Given the description of an element on the screen output the (x, y) to click on. 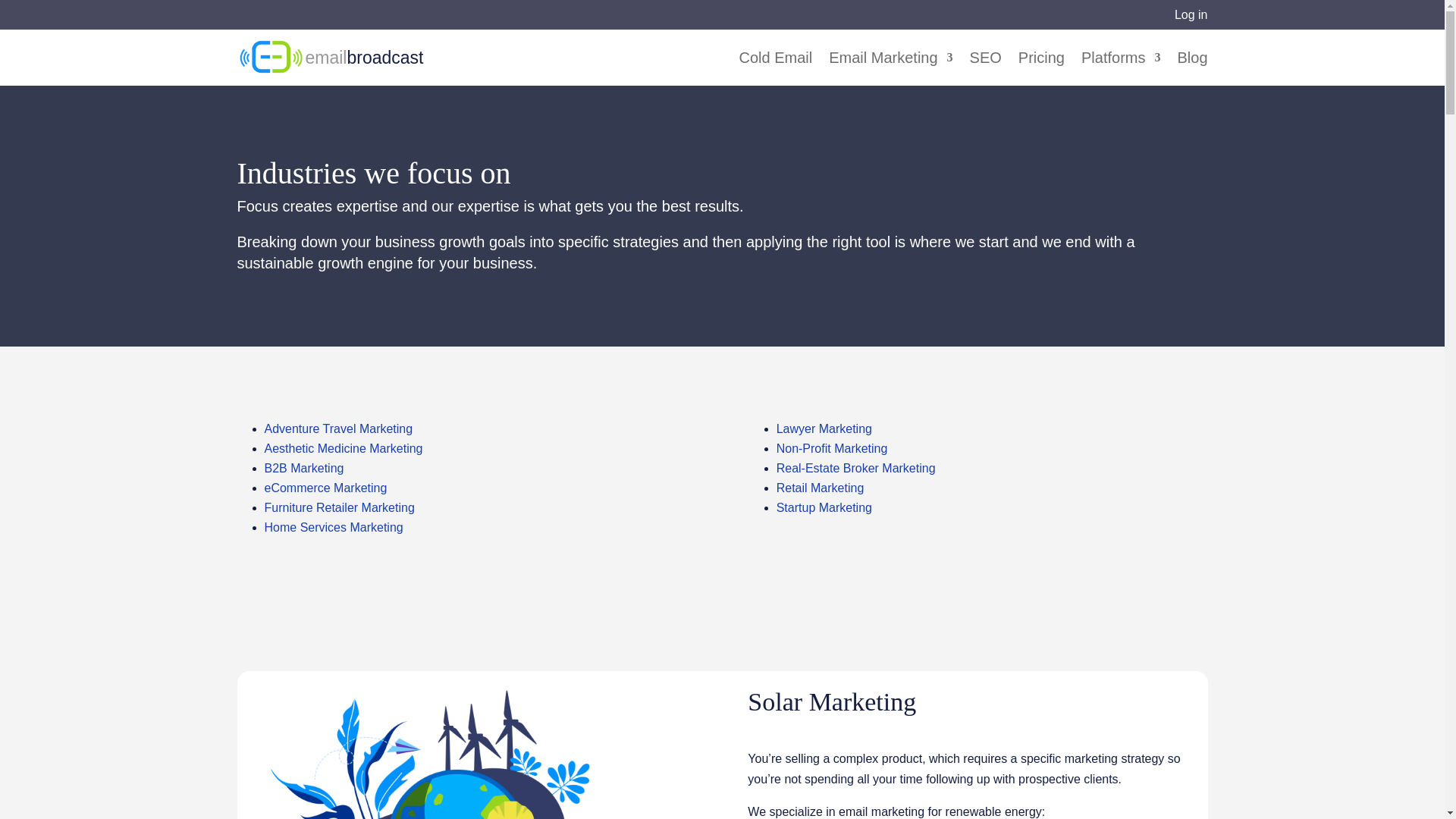
Non-Profit Marketing (832, 448)
Log in (1191, 14)
Pricing (1040, 68)
B2B Marketing (303, 468)
eCommerce Marketing (325, 487)
Email Marketing (890, 68)
Cold Email (775, 68)
Blog (1191, 68)
Aesthetic Medicine Marketing (342, 448)
SEO (985, 68)
emailbroadcast-transparent-2 (269, 57)
Adventure Travel Marketing (337, 428)
Furniture Retailer Marketing (338, 507)
Home Services Marketing (333, 526)
Lawyer Marketing (824, 428)
